Given the description of an element on the screen output the (x, y) to click on. 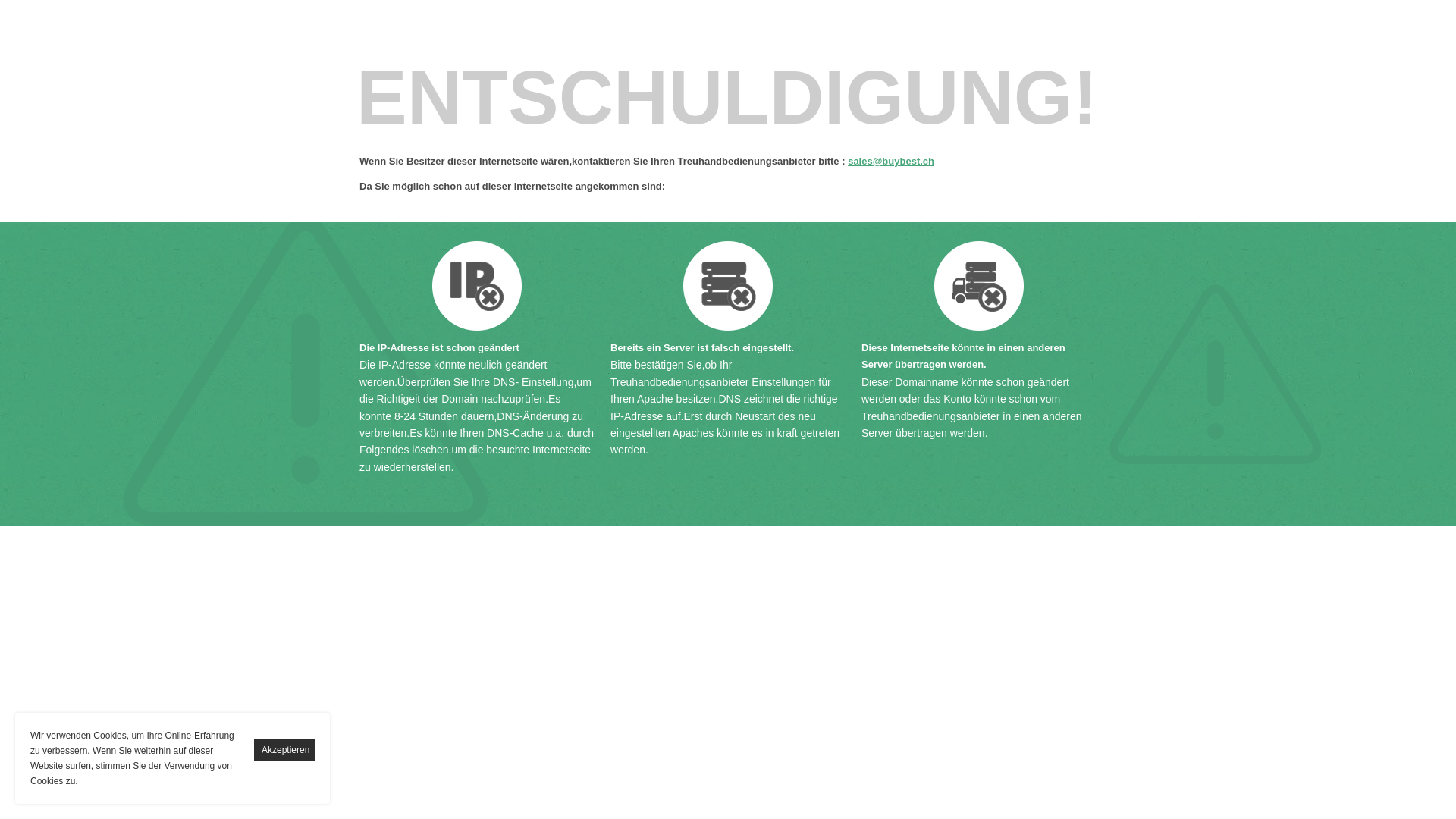
sales@buybest.ch Element type: text (890, 160)
